Given the description of an element on the screen output the (x, y) to click on. 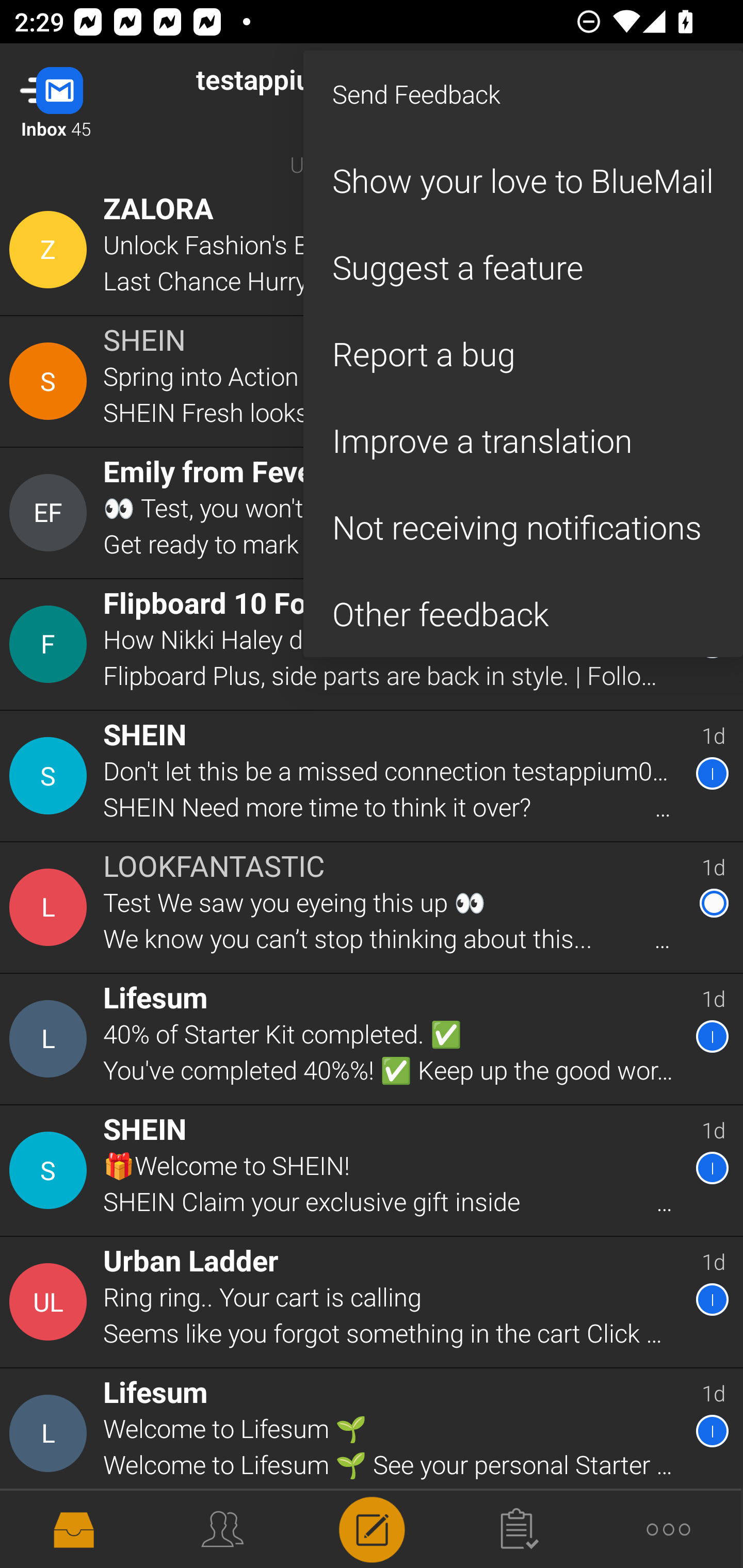
Show your love to BlueMail (523, 180)
Suggest a feature (523, 267)
Report a bug (523, 353)
Improve a translation (523, 440)
Not receiving notifications (523, 527)
Other feedback (523, 613)
